Given the description of an element on the screen output the (x, y) to click on. 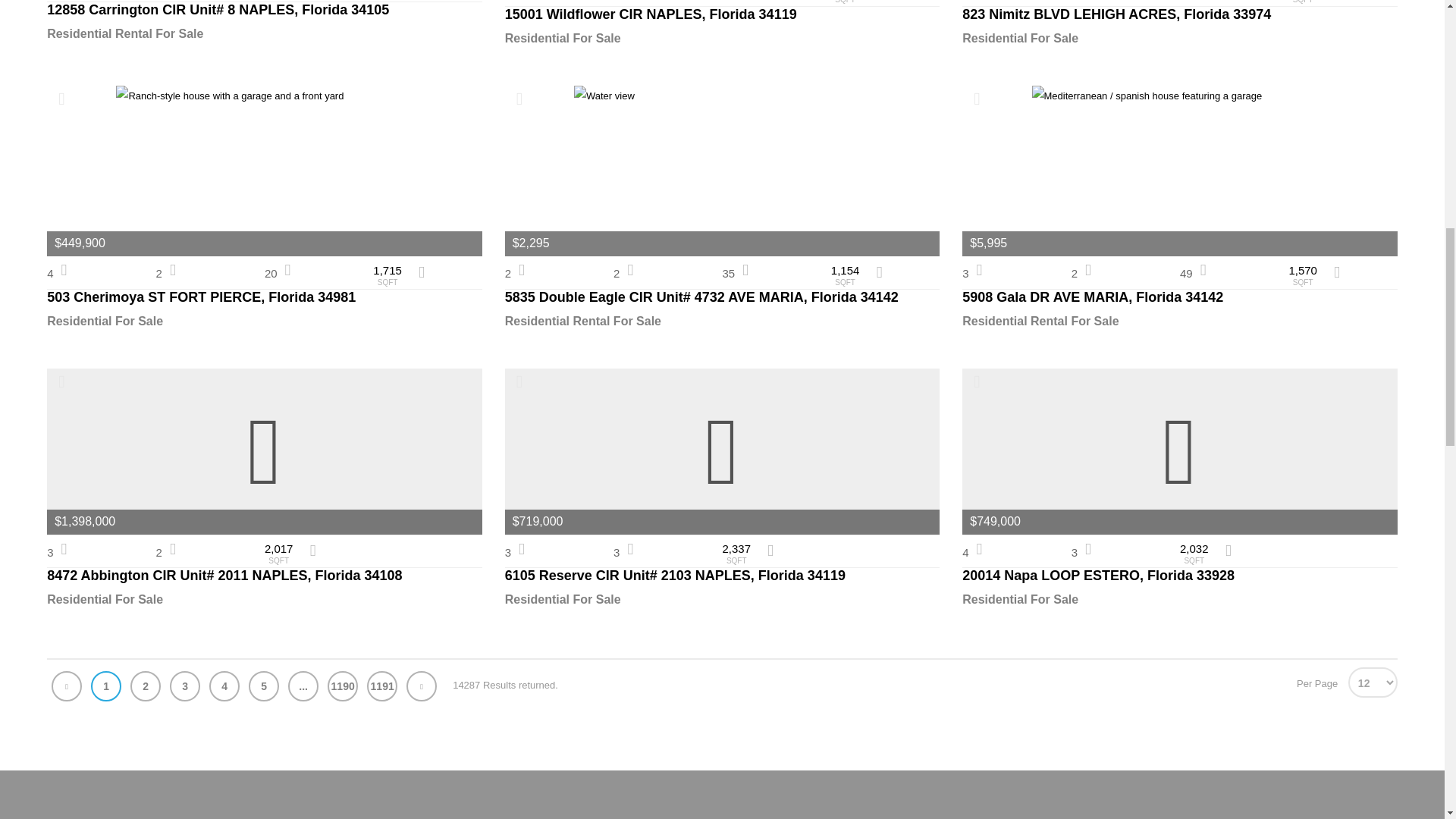
Residential For Sale (722, 38)
Residential Rental For Sale (263, 34)
